Given the description of an element on the screen output the (x, y) to click on. 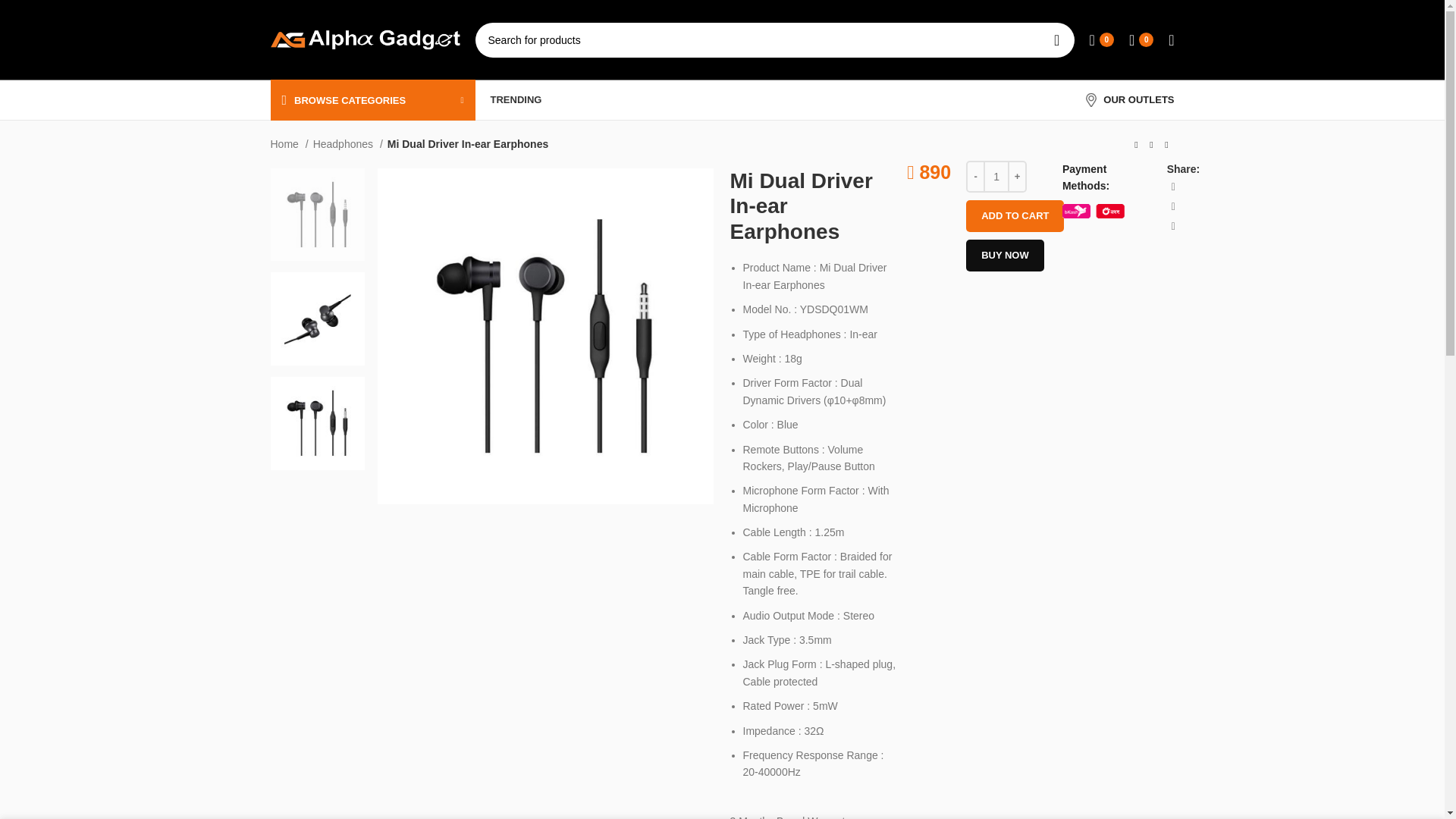
Search for products (774, 39)
1 (996, 176)
Log in (1049, 281)
0 (1101, 39)
My account (1170, 39)
- (975, 176)
SEARCH (1056, 39)
1845-26116 (545, 336)
0 (1140, 39)
My Wishlist (1101, 39)
Shopping cart (1140, 39)
